Given the description of an element on the screen output the (x, y) to click on. 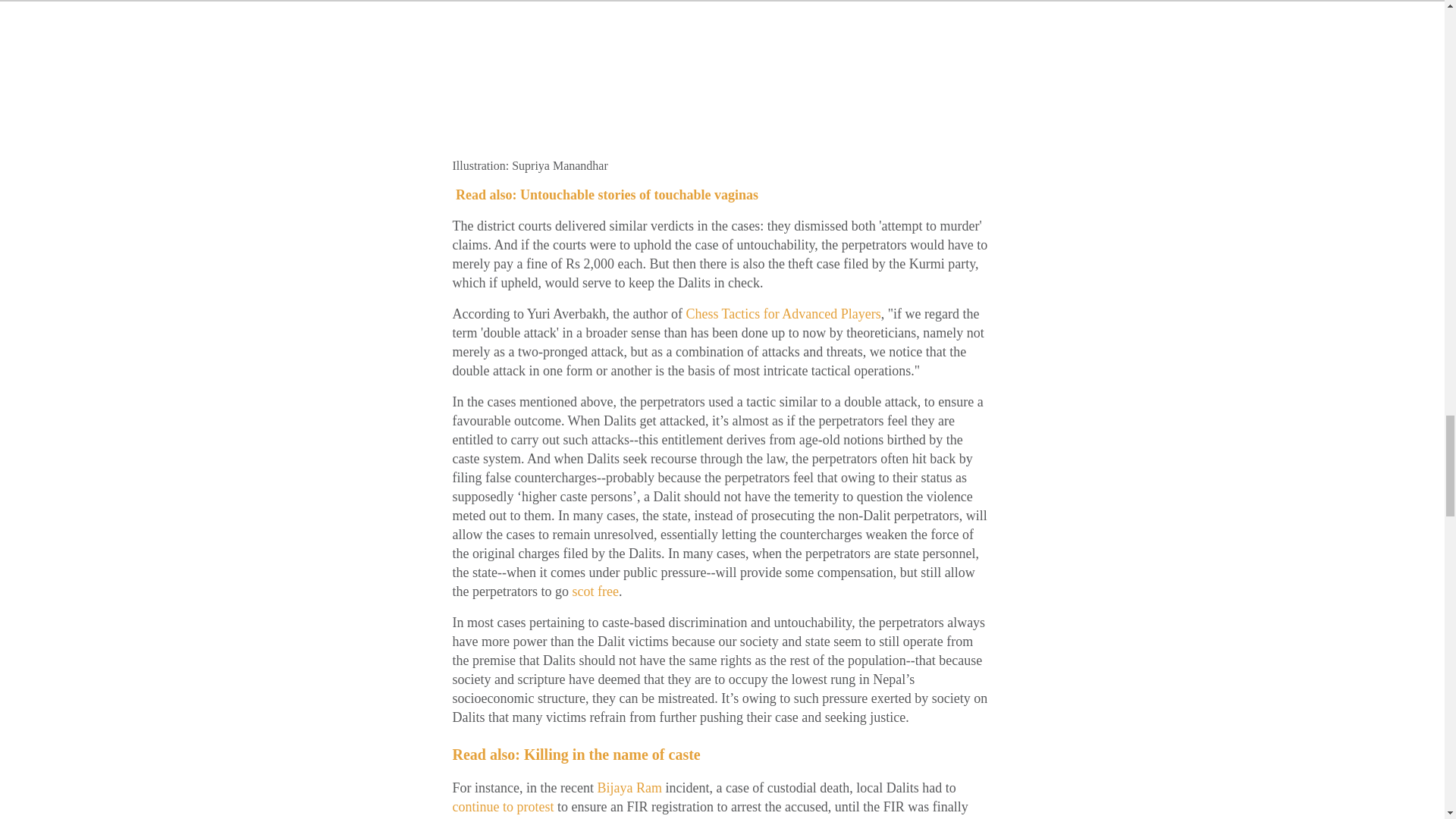
 Chess Tactics for Advanced Players (781, 313)
Read also: Untouchable stories of touchable vaginas (606, 193)
